Given the description of an element on the screen output the (x, y) to click on. 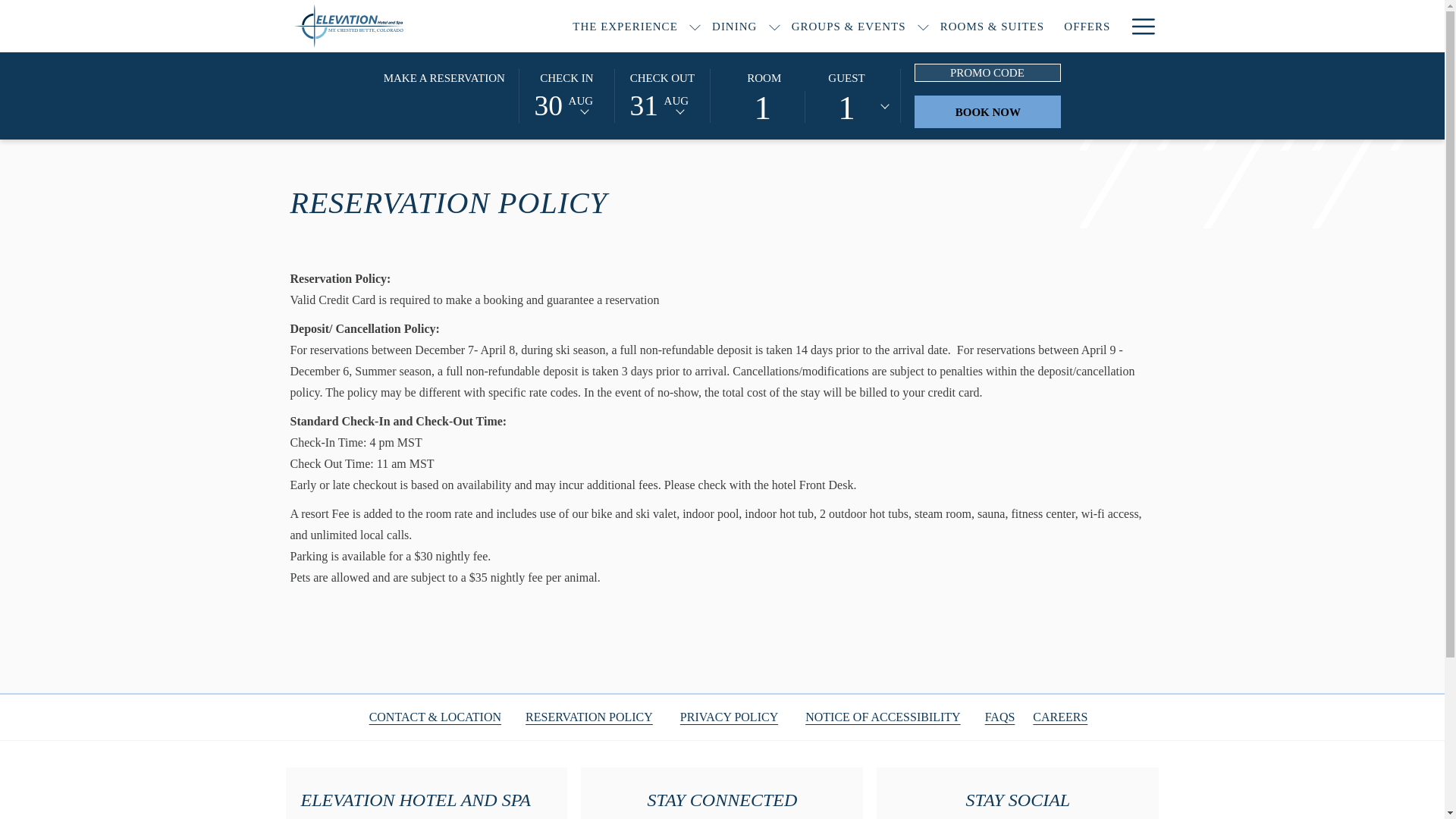
OFFERS (1086, 26)
DINING (734, 26)
NOTICE OF ACCESSIBILITY (882, 716)
Back to the homepage (392, 25)
Menu (1142, 26)
This button opens the room selector. (805, 95)
CAREERS (1059, 716)
FAQS (999, 716)
RESERVATION POLICY (588, 716)
